Given the description of an element on the screen output the (x, y) to click on. 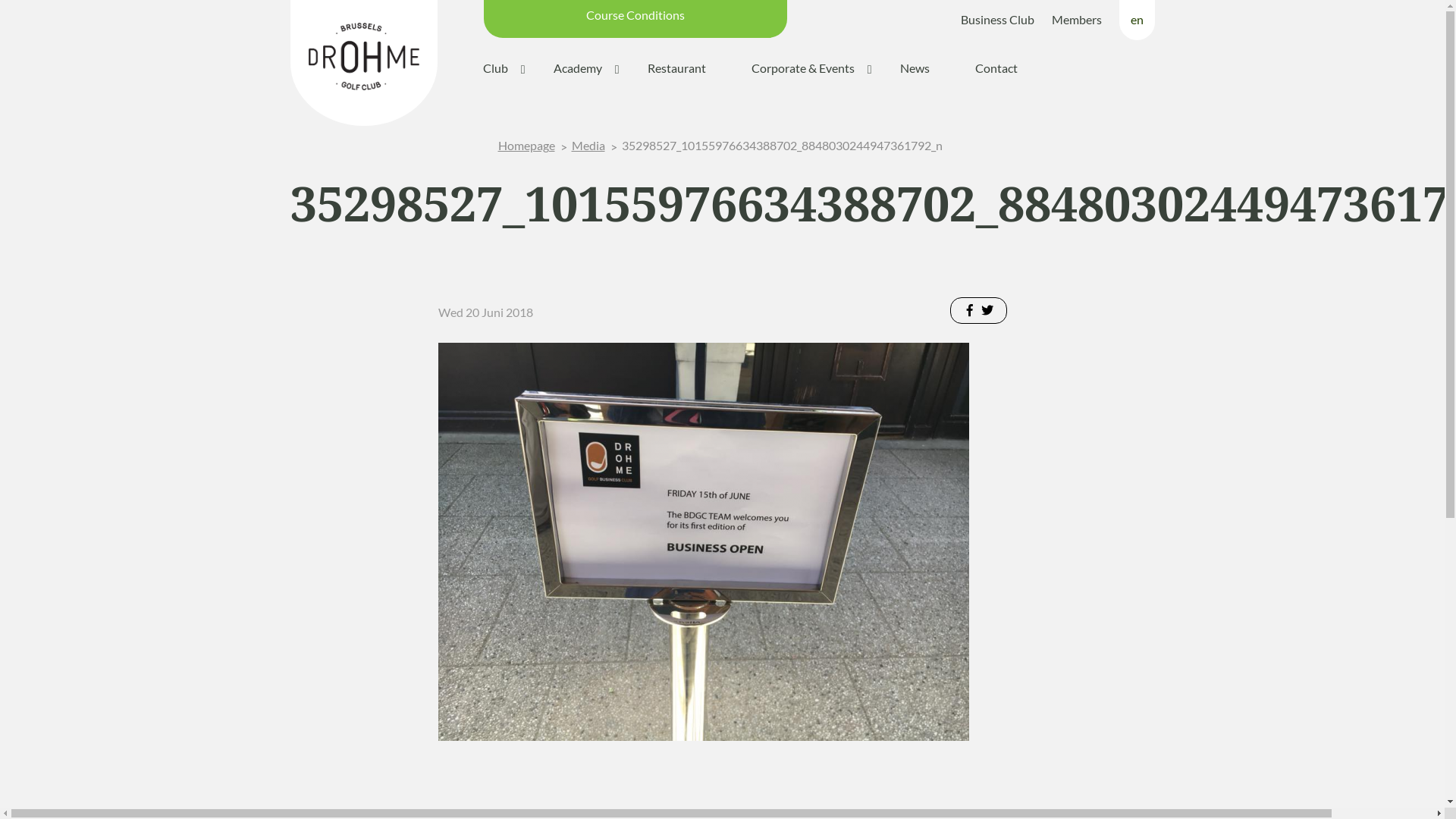
Homepage Element type: text (525, 145)
Academy Element type: text (577, 68)
Business Club Element type: text (996, 19)
Media Element type: text (588, 145)
Restaurant Element type: text (676, 68)
Members Element type: text (1076, 19)
Club Element type: text (494, 68)
News Element type: text (913, 68)
Corporate & Events Element type: text (802, 68)
Contact Element type: text (996, 68)
en Element type: text (1136, 25)
